Given the description of an element on the screen output the (x, y) to click on. 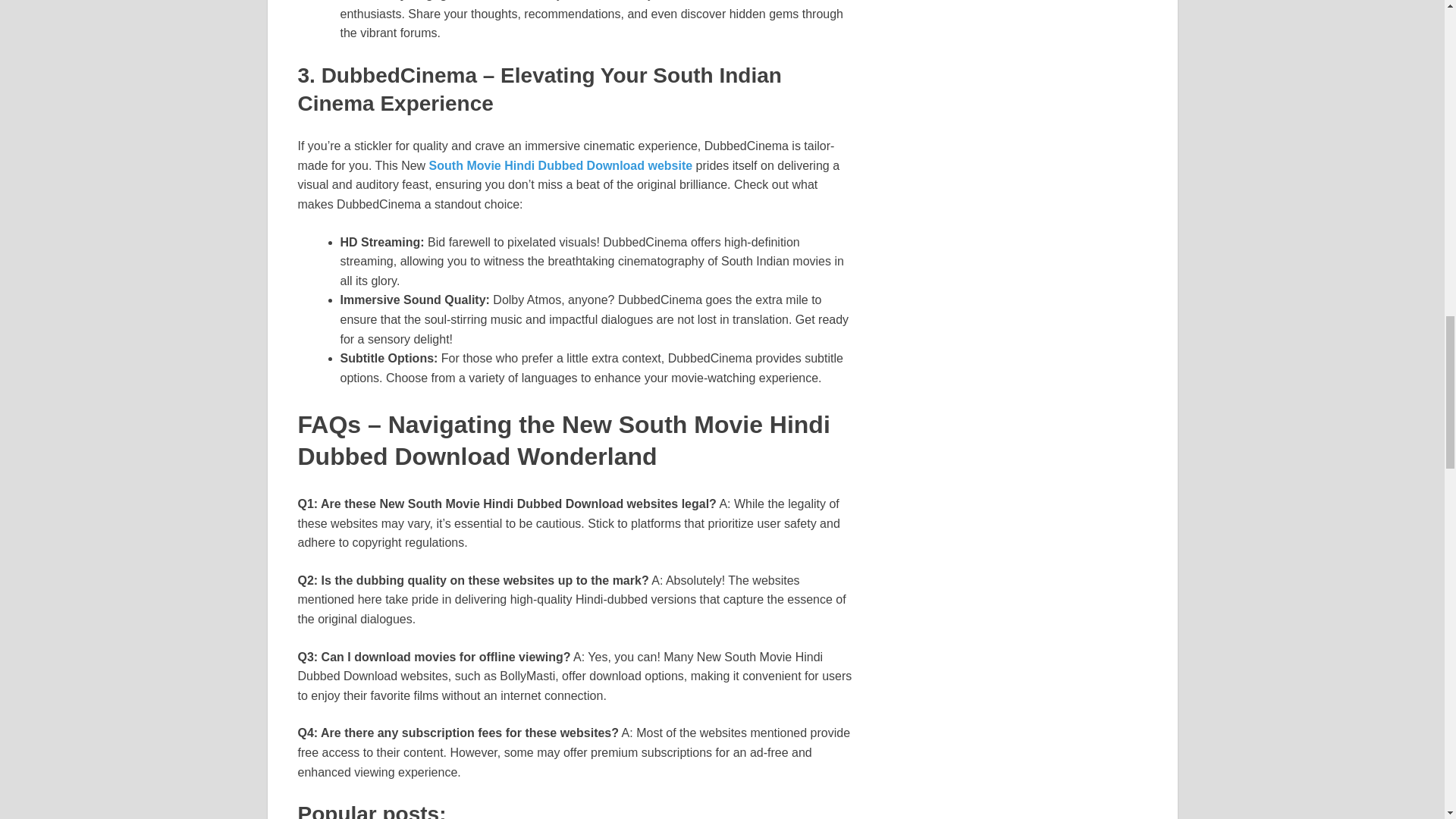
South Movie Hindi Dubbed Download website (561, 164)
